Given the description of an element on the screen output the (x, y) to click on. 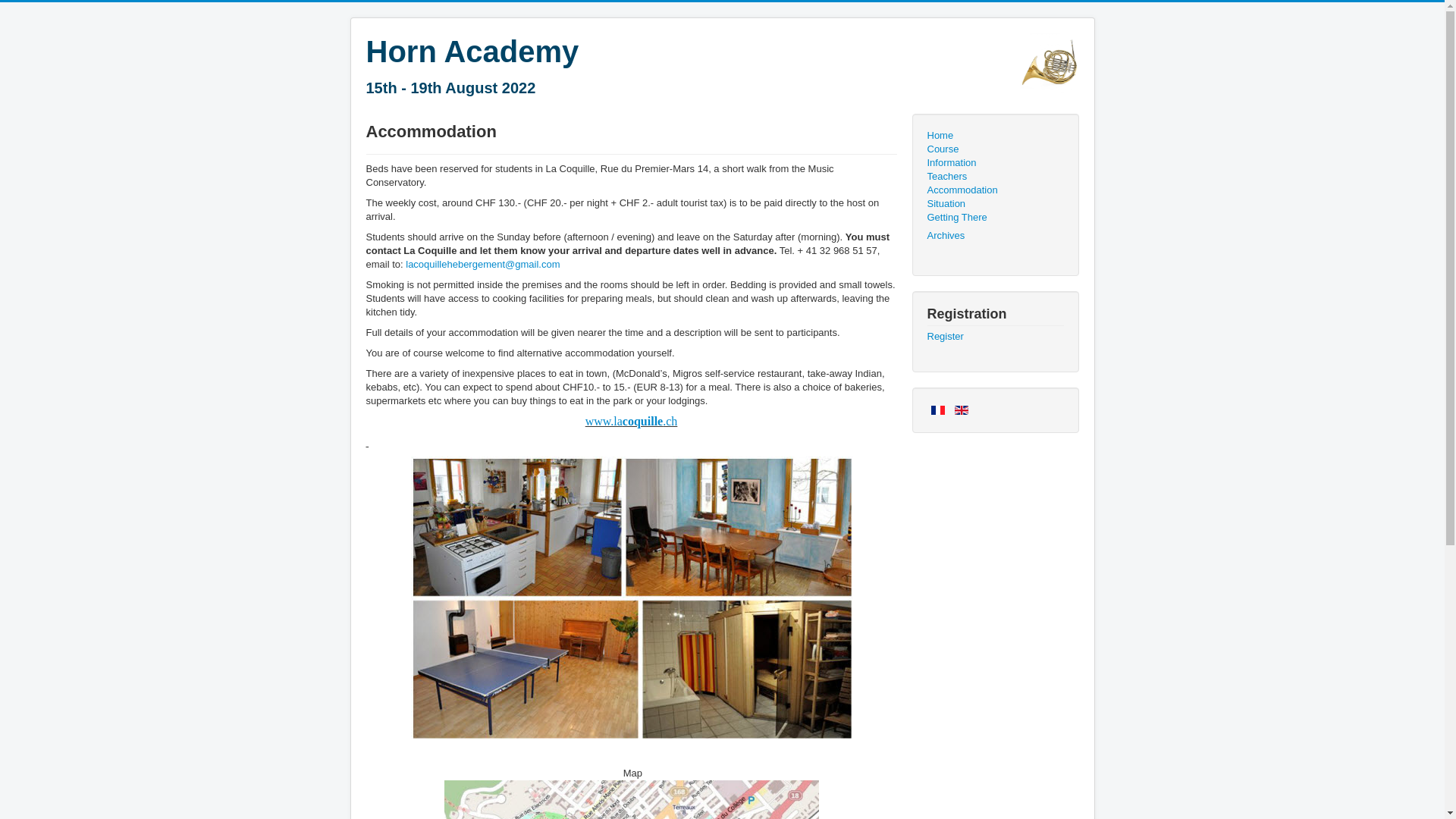
Register Element type: text (994, 336)
Situation Element type: text (994, 203)
Information Element type: text (994, 162)
Getting There Element type: text (994, 217)
www.lacoquille.ch Element type: text (631, 420)
Teachers Element type: text (994, 176)
Accommodation Element type: text (994, 190)
Horn Academy
15th - 19th August 2022 Element type: text (471, 69)
Home Element type: text (994, 135)
Course Element type: text (994, 149)
English (UK) Element type: hover (961, 409)
lacoquillehebergement@gmail.com Element type: text (482, 263)
Archives Element type: text (994, 235)
